Given the description of an element on the screen output the (x, y) to click on. 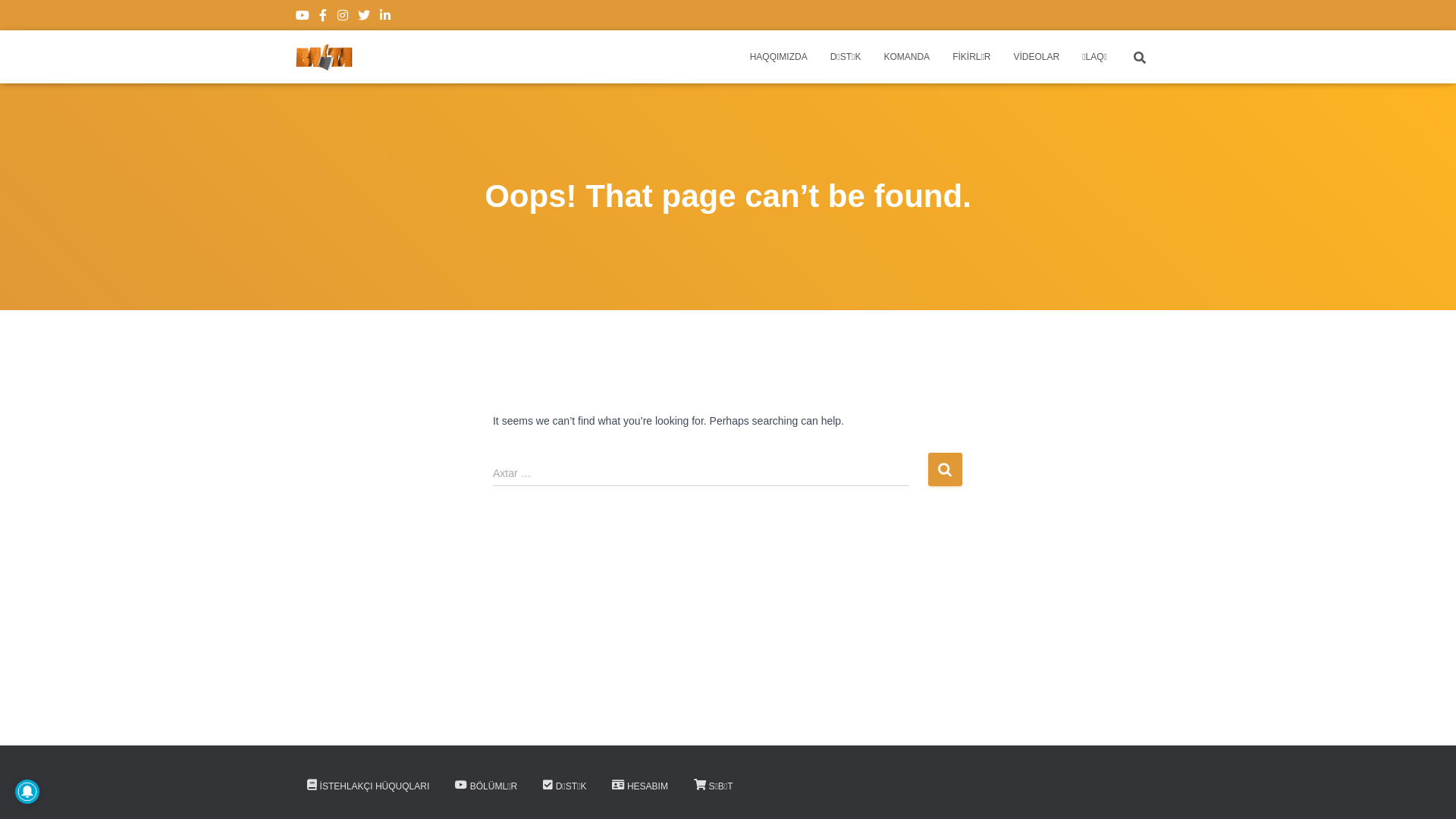
KOMANDA Element type: text (906, 56)
HAQQIMIZDA Element type: text (778, 56)
HESABIM Element type: text (639, 786)
Axtar Element type: text (945, 468)
Linkedin Element type: text (384, 17)
VIDEOLAR Element type: text (1036, 56)
Facebook Element type: text (322, 17)
Youtube Element type: text (302, 17)
Instagram Element type: text (342, 17)
Twitter Element type: text (363, 17)
Axtar Element type: text (3, 16)
